Given the description of an element on the screen output the (x, y) to click on. 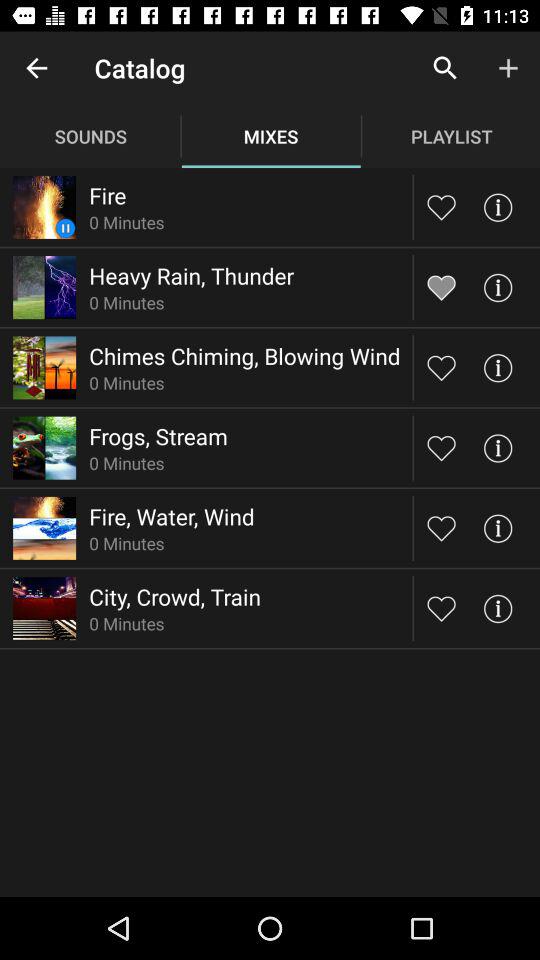
information button (498, 608)
